Given the description of an element on the screen output the (x, y) to click on. 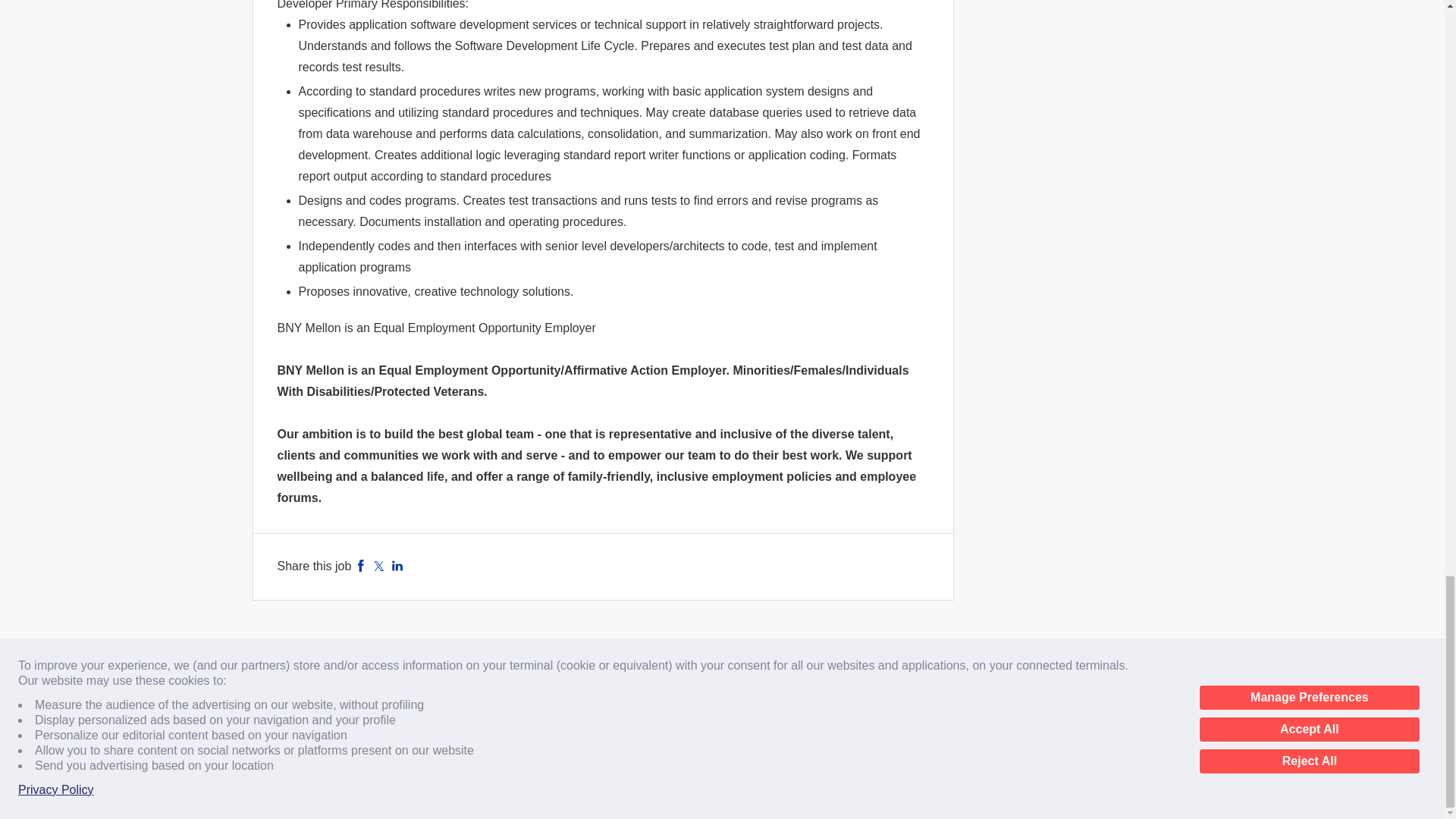
About (290, 694)
Facebook (360, 565)
Twitter (378, 565)
LinkedIn (397, 565)
Contact Us (357, 694)
